Given the description of an element on the screen output the (x, y) to click on. 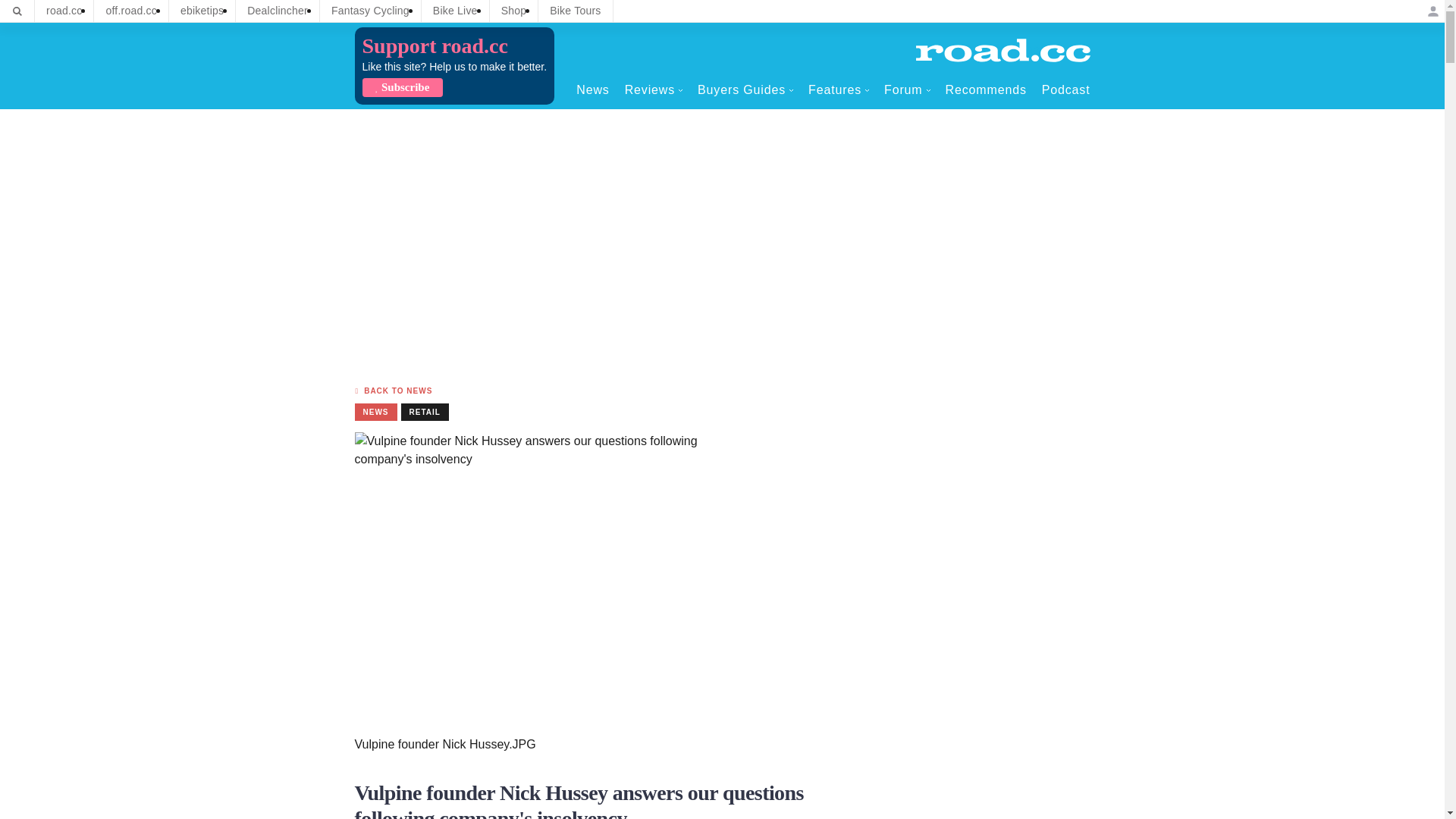
off.road.cc (131, 11)
Fantasy Cycling (370, 11)
Dealclincher (276, 11)
Shop (513, 11)
Bike Tours (574, 11)
Reviews (653, 89)
News (592, 89)
Bike Live (455, 11)
Subscribe (402, 87)
Home (1002, 50)
ebiketips (201, 11)
road.cc (63, 11)
